Given the description of an element on the screen output the (x, y) to click on. 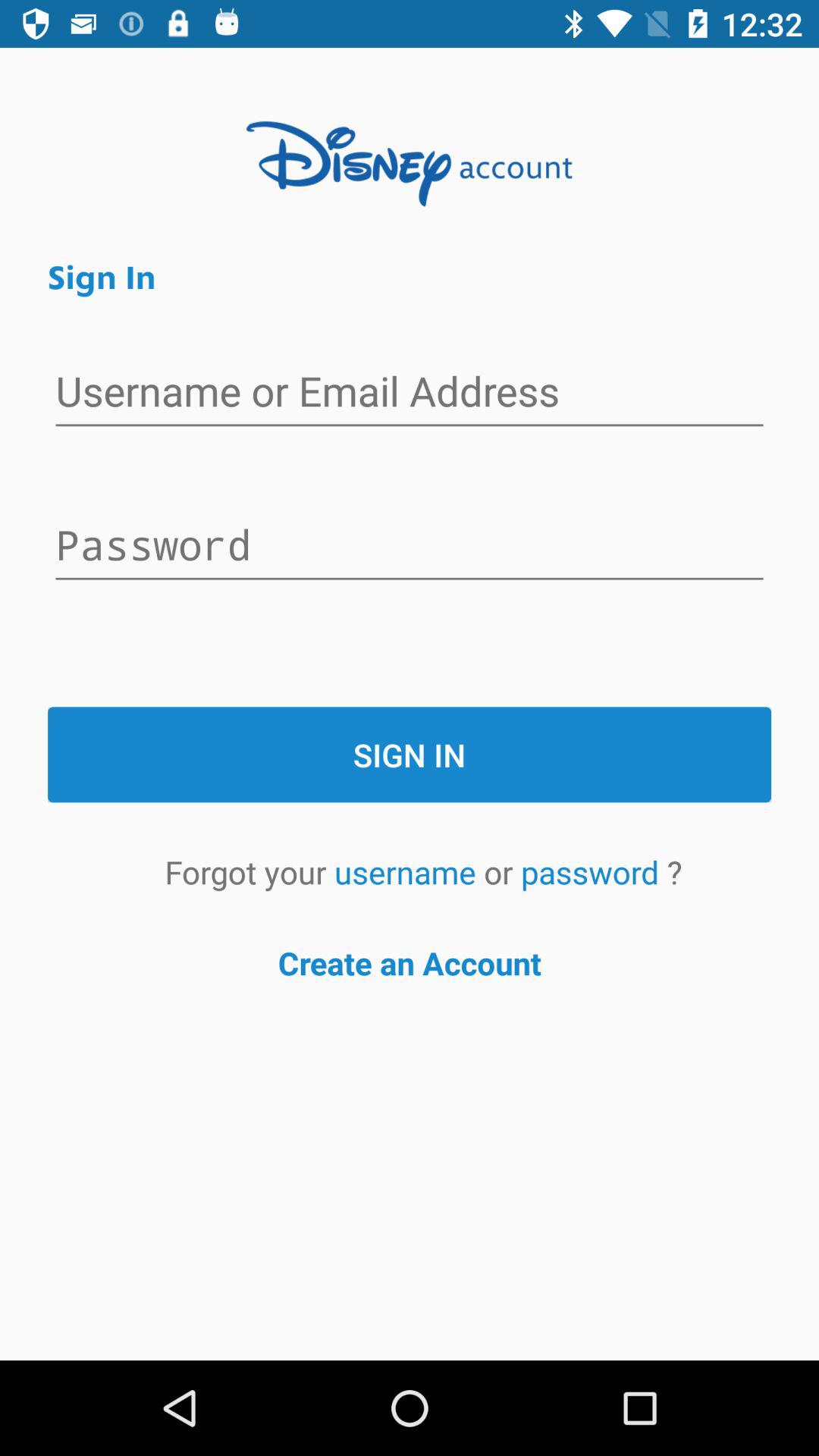
click item to the right of forgot your  icon (409, 871)
